Given the description of an element on the screen output the (x, y) to click on. 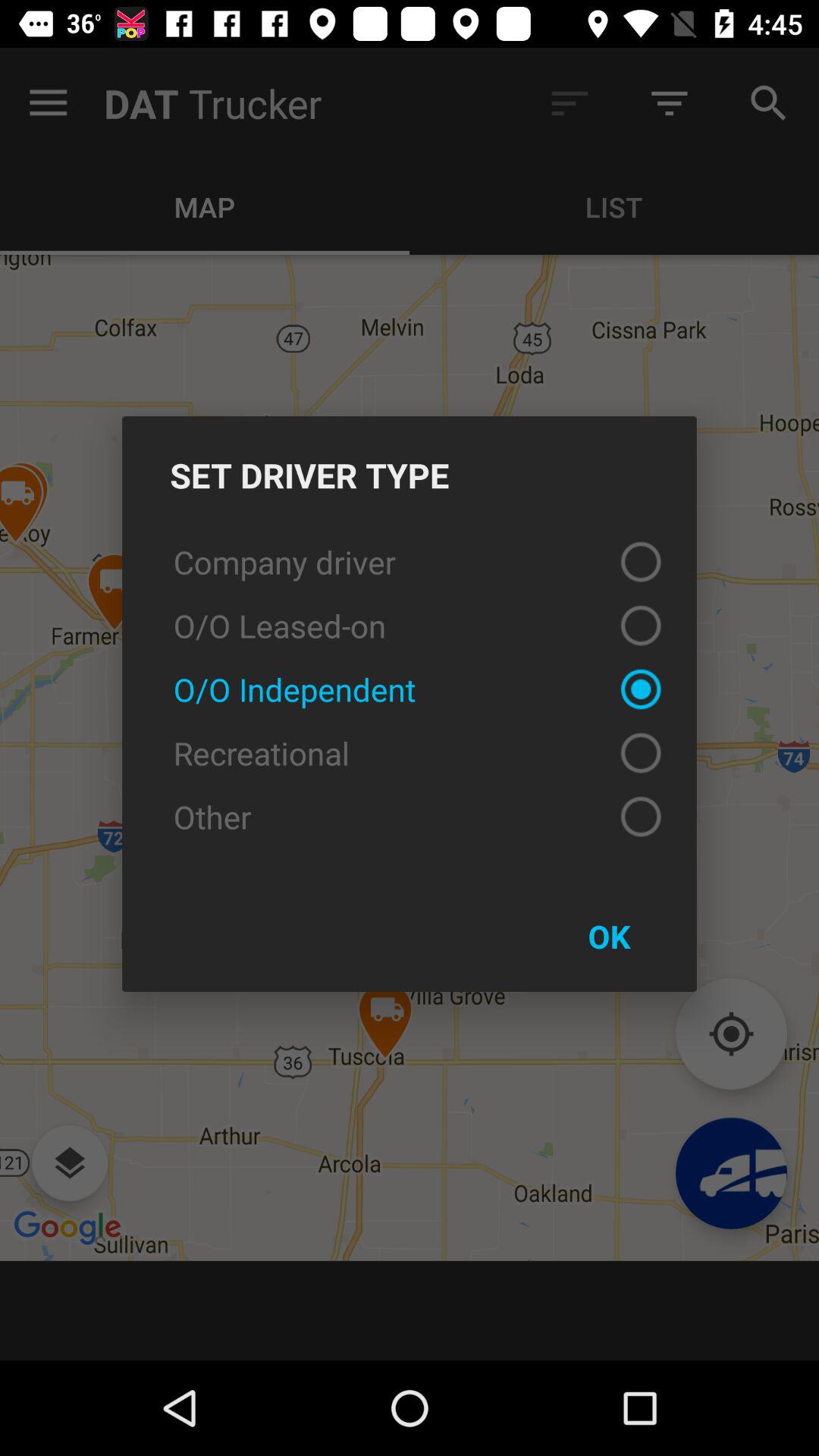
jump to recreational item (409, 752)
